Given the description of an element on the screen output the (x, y) to click on. 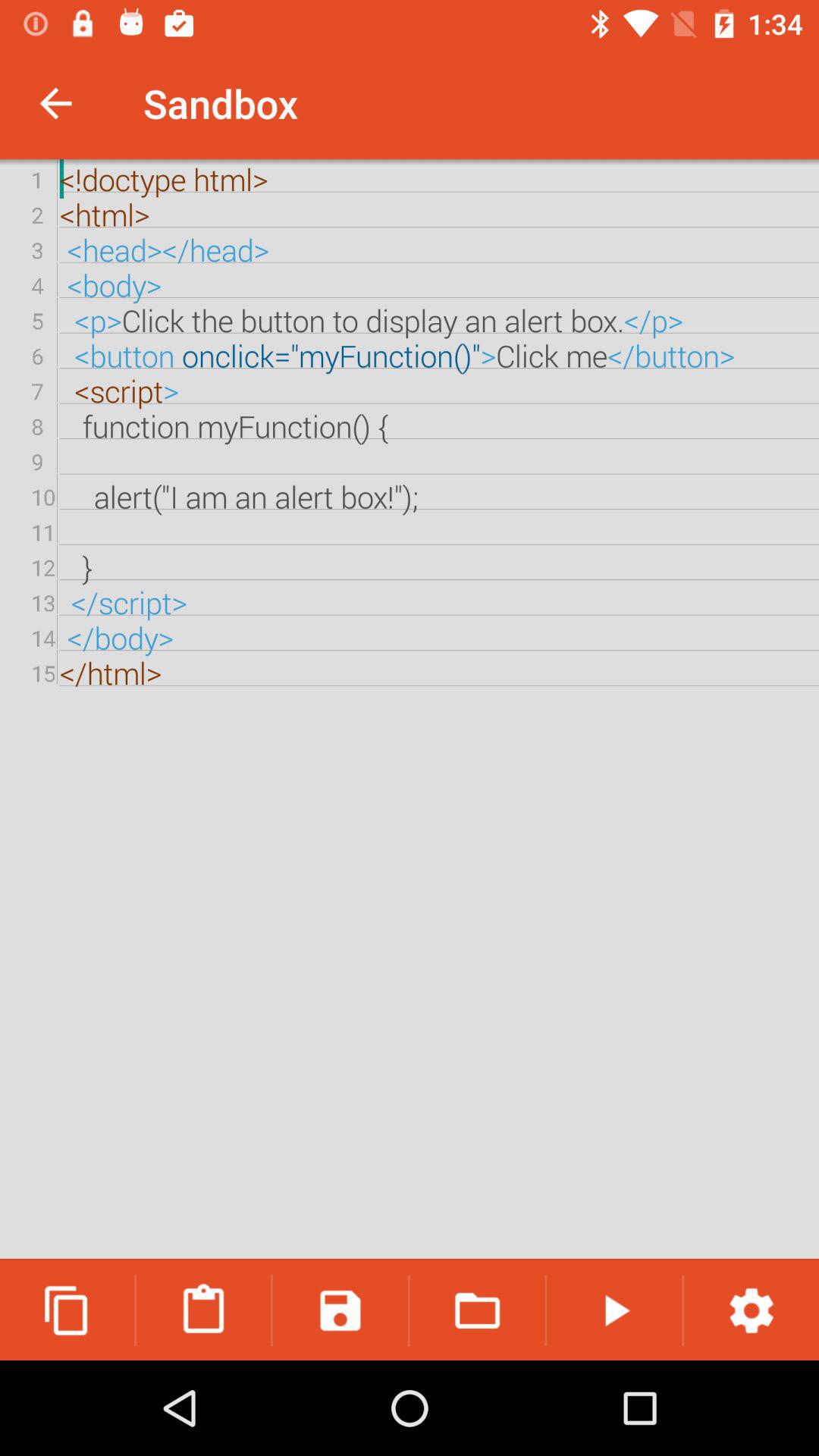
launch doctype html html at the center (409, 709)
